Given the description of an element on the screen output the (x, y) to click on. 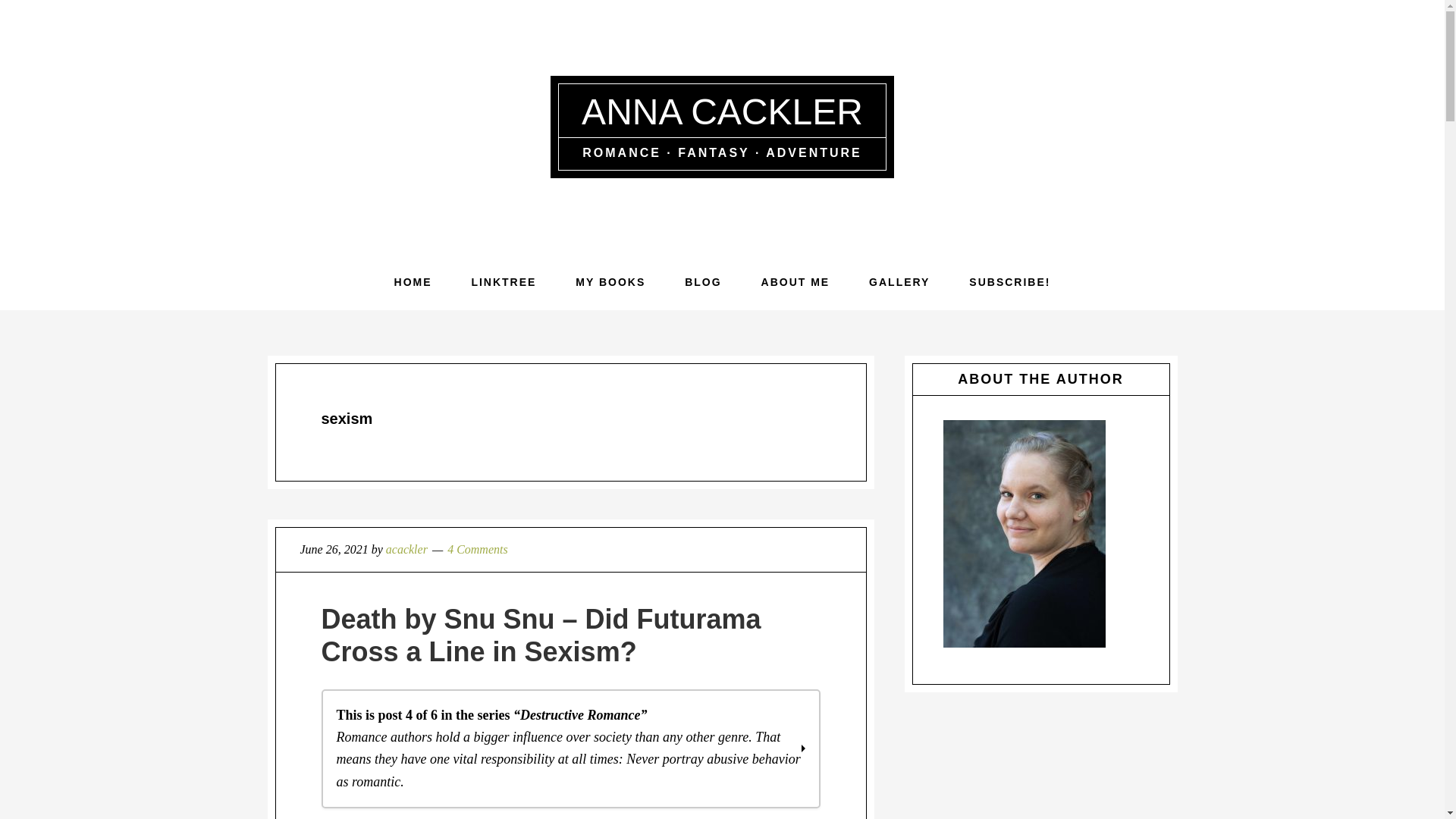
MY BOOKS (610, 281)
acackler (406, 549)
ANNA CACKLER (721, 111)
BLOG (702, 281)
SUBSCRIBE! (1009, 281)
LINKTREE (503, 281)
ABOUT ME (795, 281)
GALLERY (898, 281)
4 Comments (477, 549)
HOME (412, 281)
